Given the description of an element on the screen output the (x, y) to click on. 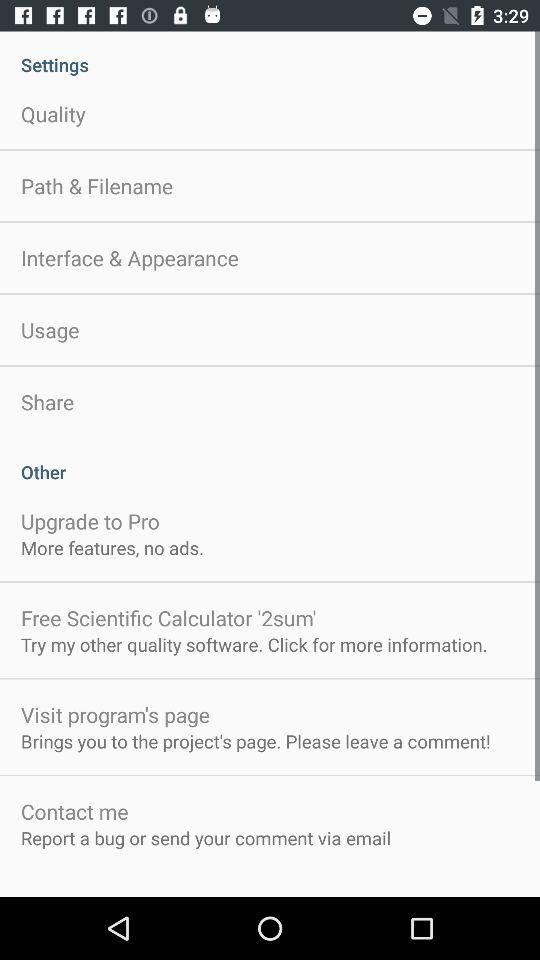
tap icon above the quality app (270, 54)
